Given the description of an element on the screen output the (x, y) to click on. 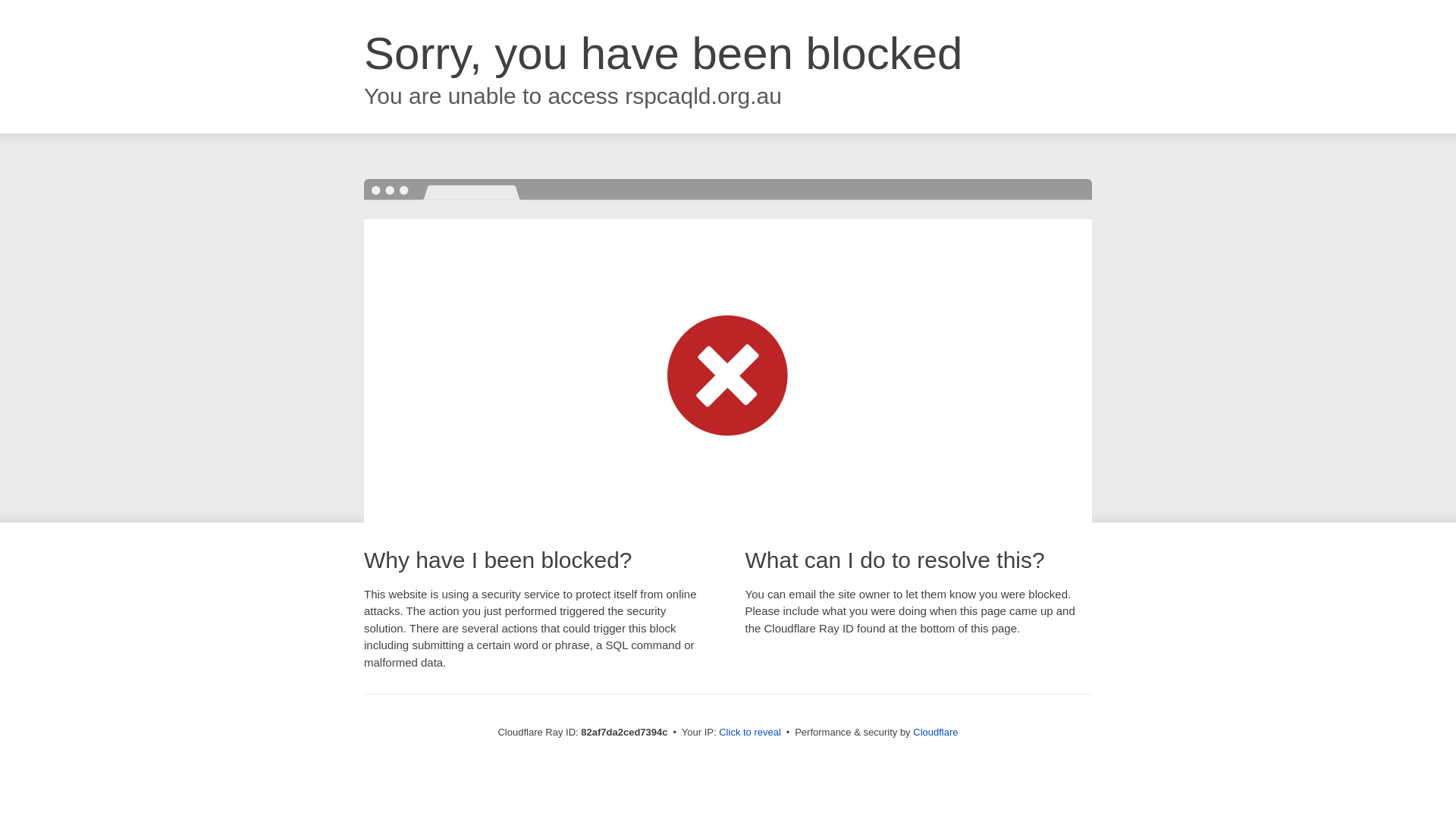
Cloudflare Element type: text (935, 731)
Click to reveal Element type: text (749, 732)
